Given the description of an element on the screen output the (x, y) to click on. 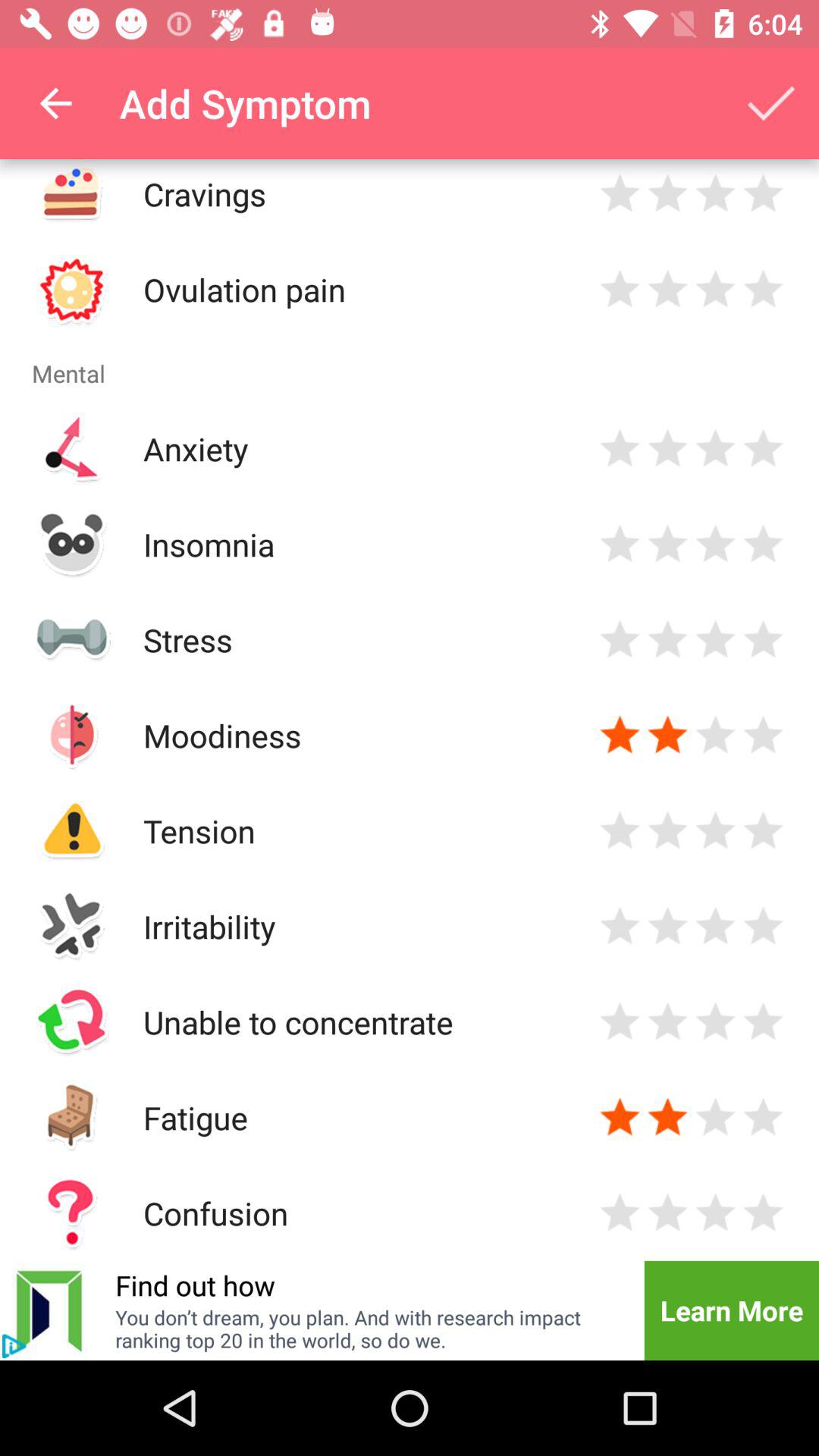
3 star rating (715, 1117)
